Given the description of an element on the screen output the (x, y) to click on. 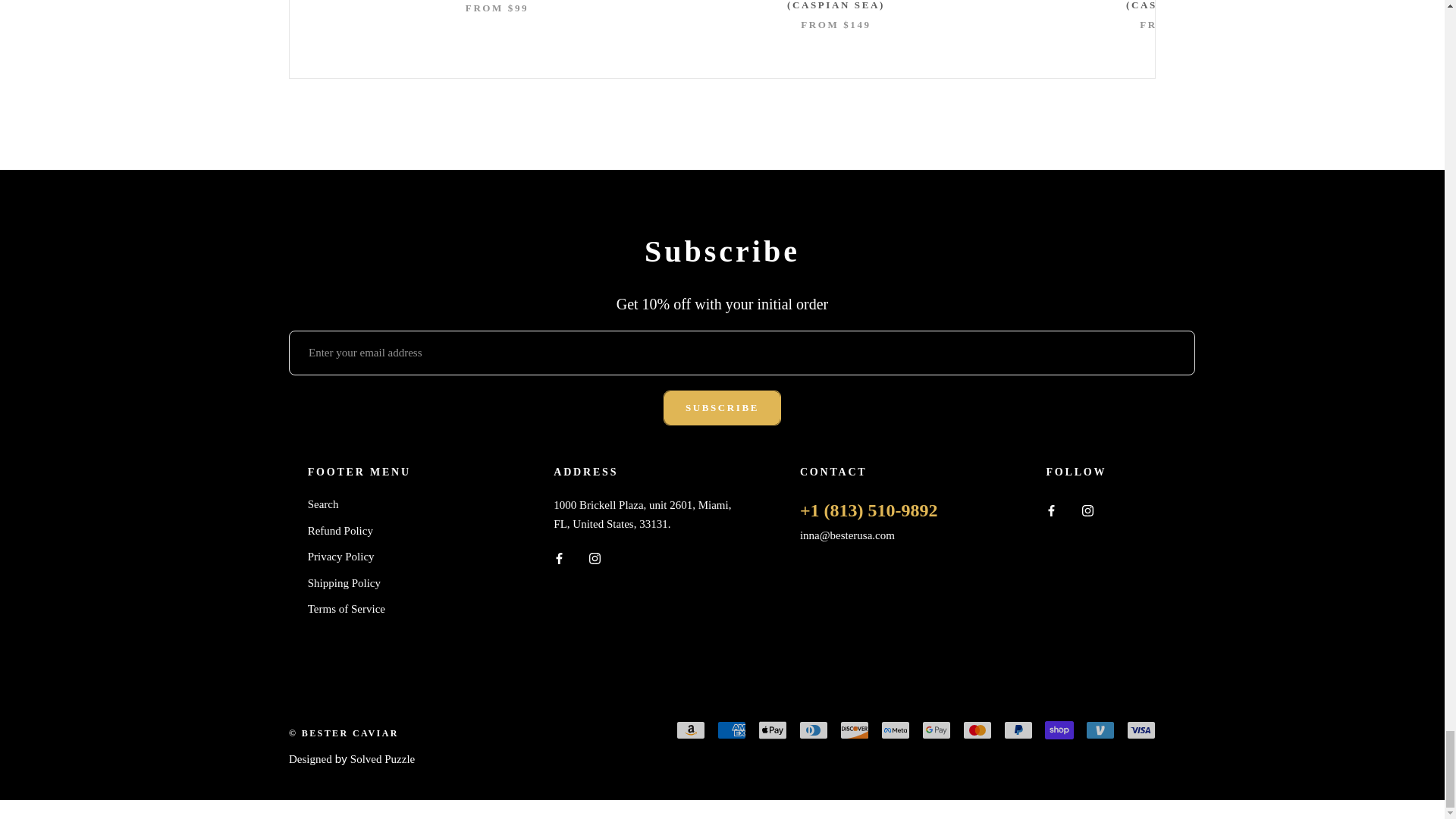
PayPal (1018, 730)
Amazon (690, 730)
American Express (731, 730)
Google Pay (935, 730)
Diners Club (813, 730)
Discover (854, 730)
Apple Pay (772, 730)
Meta Pay (895, 730)
Shop Pay (1059, 730)
Mastercard (976, 730)
